Given the description of an element on the screen output the (x, y) to click on. 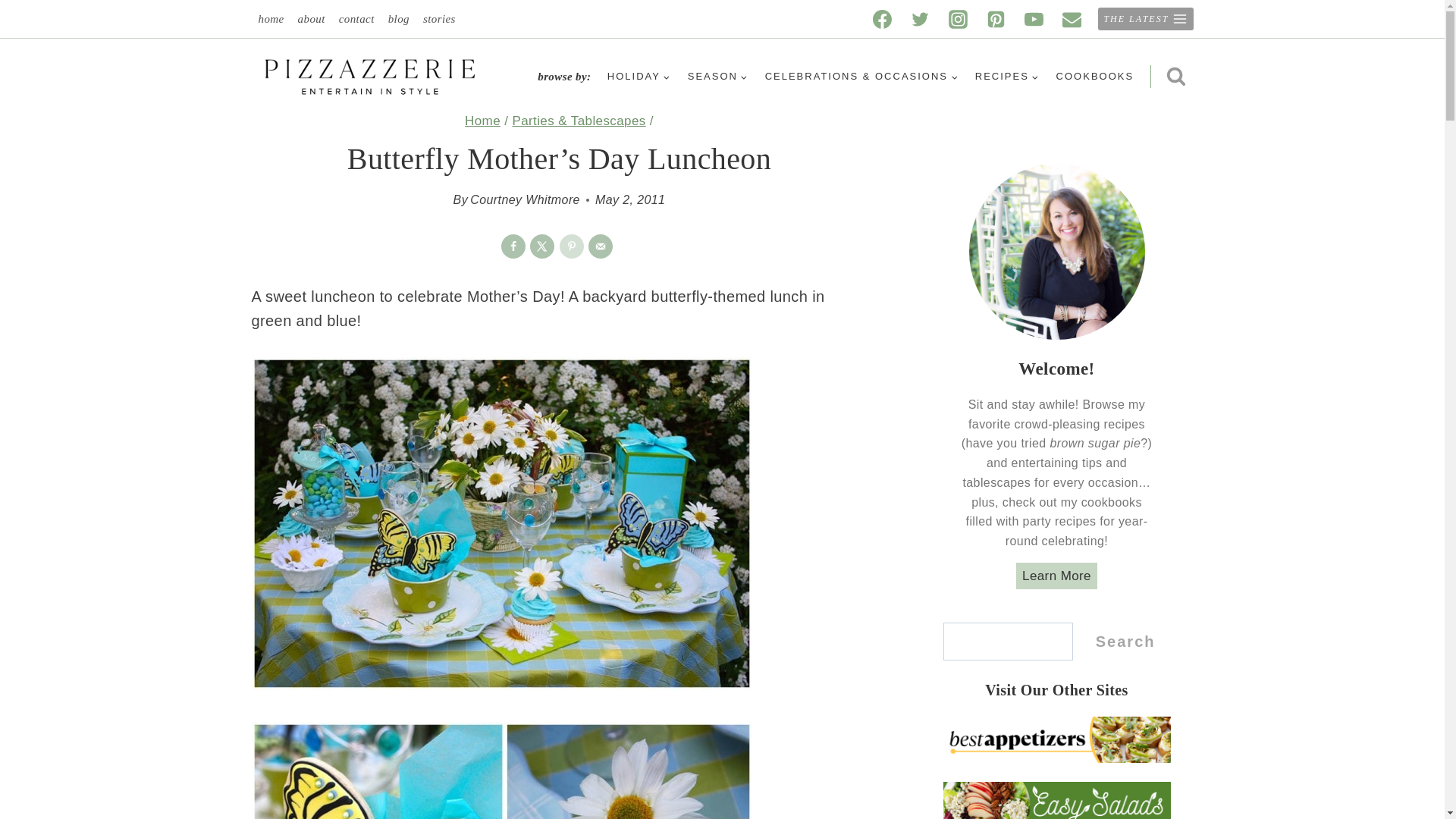
HOLIDAY (638, 76)
home (271, 19)
stories (439, 19)
Share on X (541, 246)
contact (356, 19)
THE LATEST (1144, 18)
about (311, 19)
Send over email (600, 246)
Save to Pinterest (571, 246)
mothers day butterfly table 4 (501, 770)
Share on Facebook (512, 246)
blog (398, 19)
SEASON (716, 76)
